Given the description of an element on the screen output the (x, y) to click on. 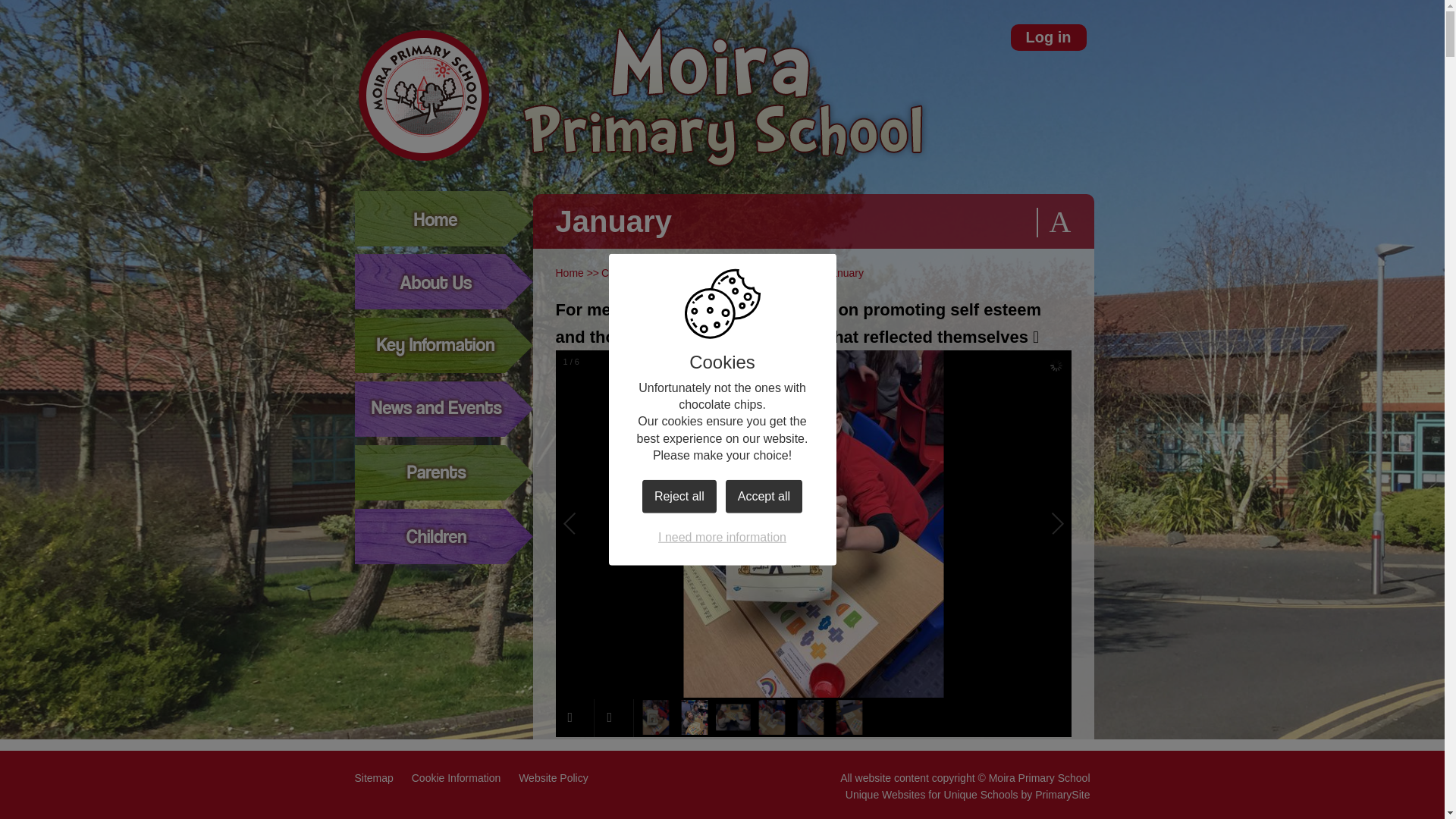
Home Page (422, 95)
Home (568, 272)
Log in (1048, 37)
Primary 4 (785, 272)
January (844, 272)
Home Page (422, 95)
Children (620, 272)
Year Group Pages (701, 272)
